Given the description of an element on the screen output the (x, y) to click on. 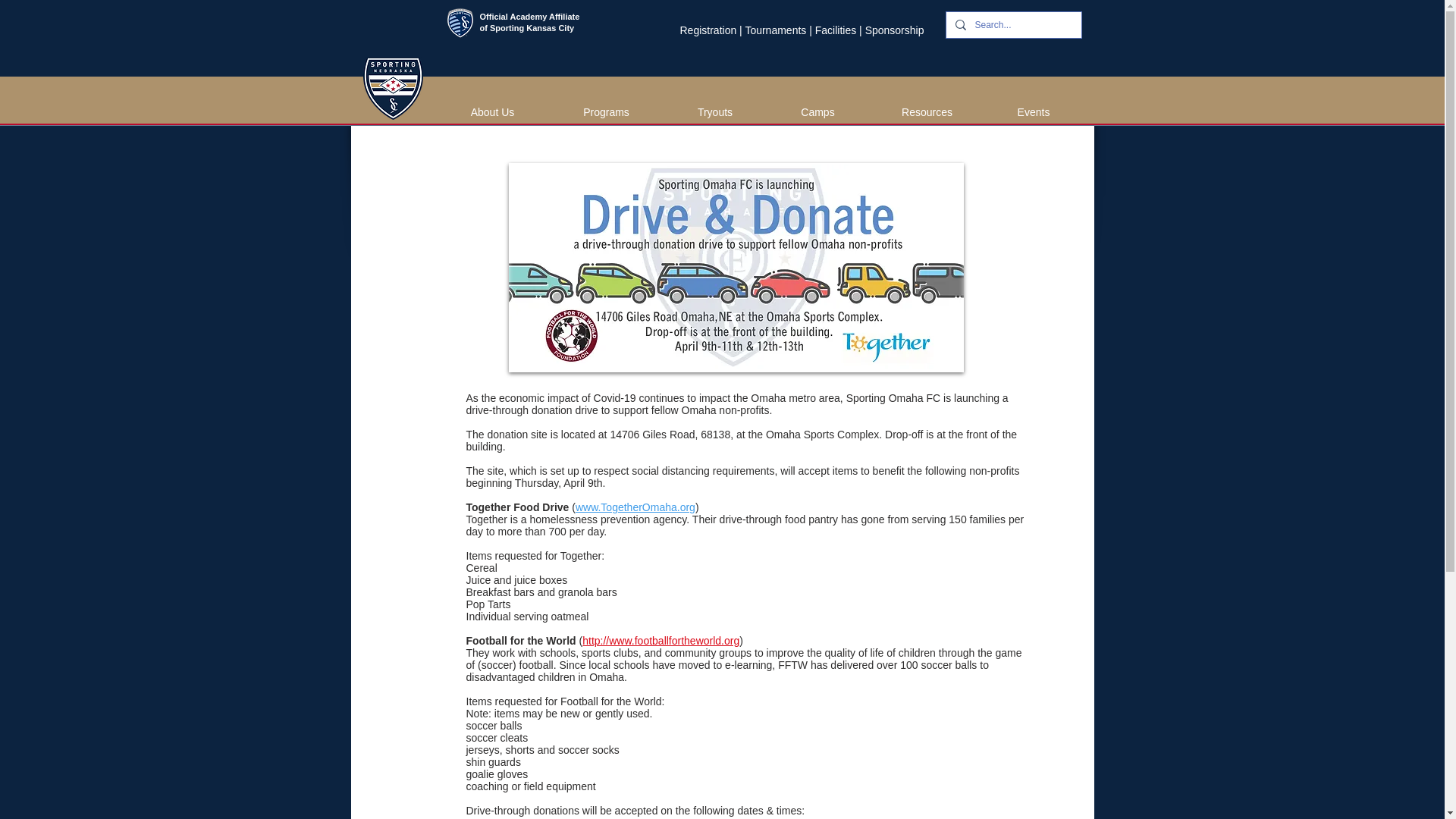
Sponsorship (894, 30)
Programs (605, 111)
Facilities (835, 30)
Tournaments (775, 30)
Registration (707, 30)
Camps (816, 111)
Tryouts (713, 111)
About Us (492, 111)
